Given the description of an element on the screen output the (x, y) to click on. 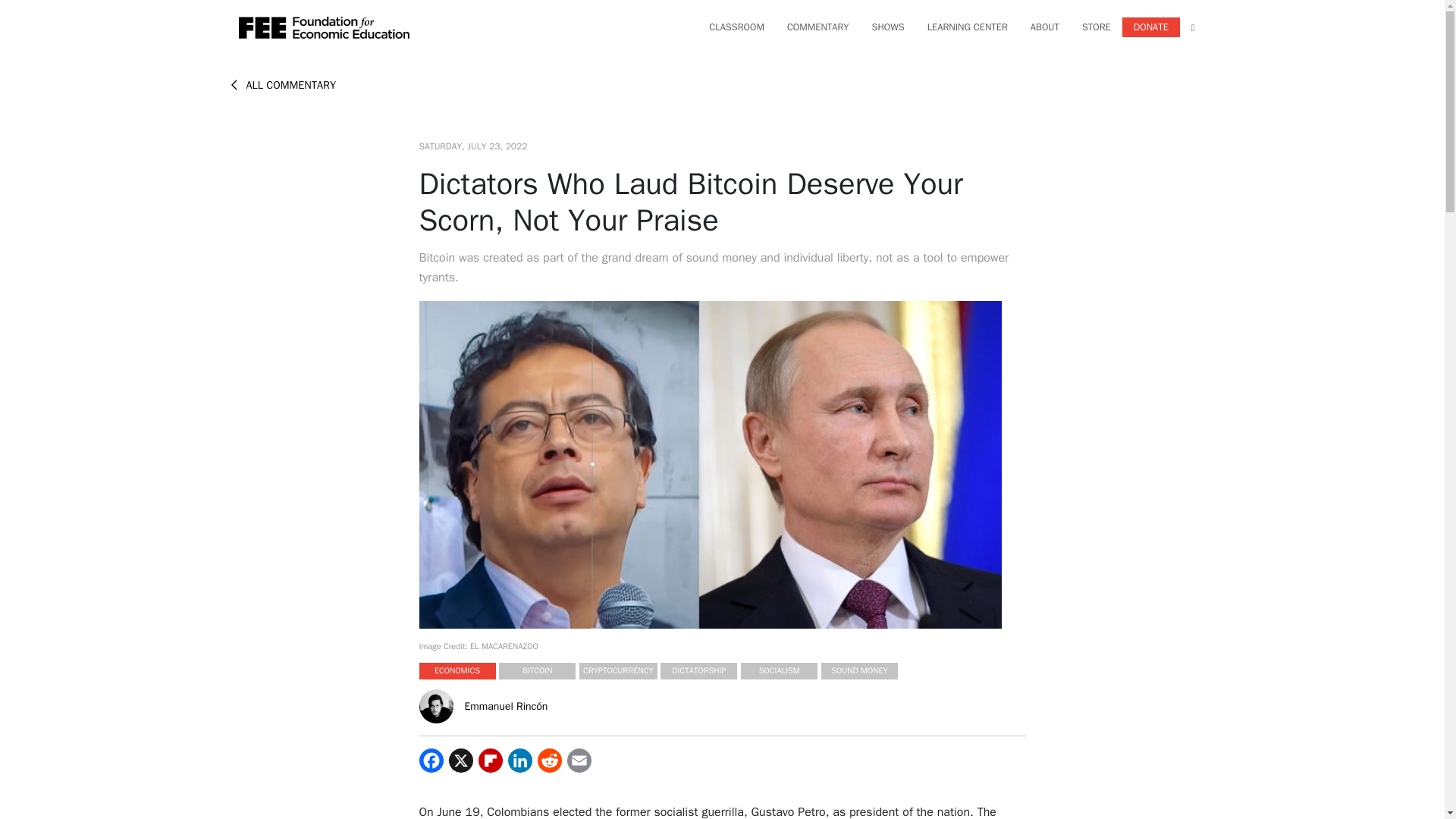
DICTATORSHIP (698, 670)
ABOUT (1045, 26)
CRYPTOCURRENCY (618, 670)
STORE (1095, 26)
Reddit (548, 760)
BITCOIN (536, 670)
DONATE (1150, 26)
ECONOMICS (456, 670)
SHOWS (888, 26)
